Given the description of an element on the screen output the (x, y) to click on. 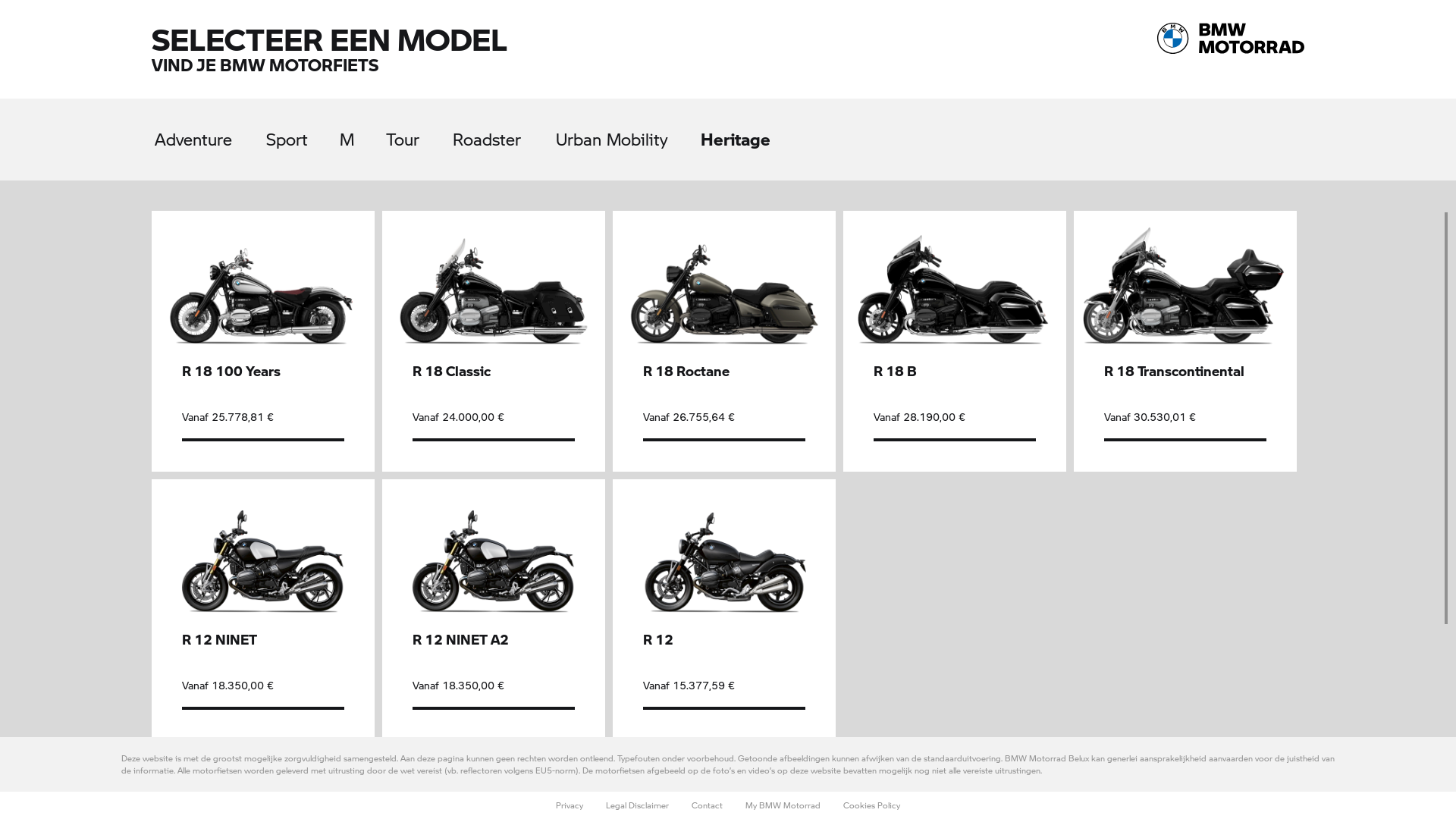
M Element type: text (360, 135)
Privacy Element type: text (569, 804)
Urban Mobility Element type: text (625, 135)
Tour Element type: text (415, 135)
Sport Element type: text (301, 135)
Roadster Element type: text (499, 135)
My BMW Motorrad Element type: text (782, 804)
Legal Disclaimer Element type: text (636, 804)
Heritage Element type: text (746, 135)
Contact Element type: text (706, 804)
Cookies Policy Element type: text (871, 804)
Adventure Element type: text (207, 135)
